Given the description of an element on the screen output the (x, y) to click on. 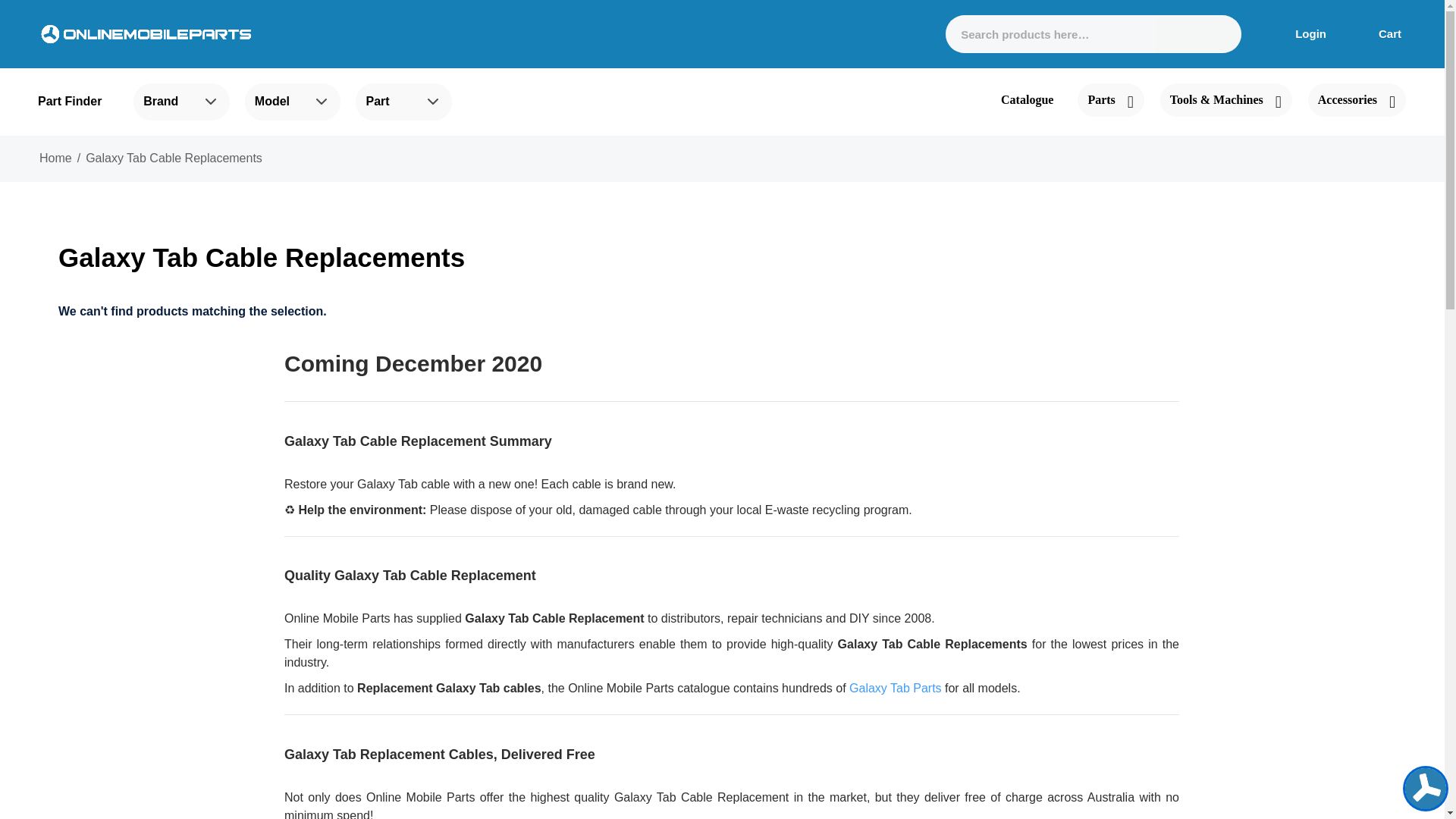
Login (1299, 33)
Online Mobile Parts Logo (146, 33)
Search (1216, 34)
My Account (1299, 33)
Cart (1380, 33)
Parts (1109, 100)
Catalogue (1026, 99)
Go to Home Page (55, 157)
Galaxy Tab Parts (895, 687)
